Given the description of an element on the screen output the (x, y) to click on. 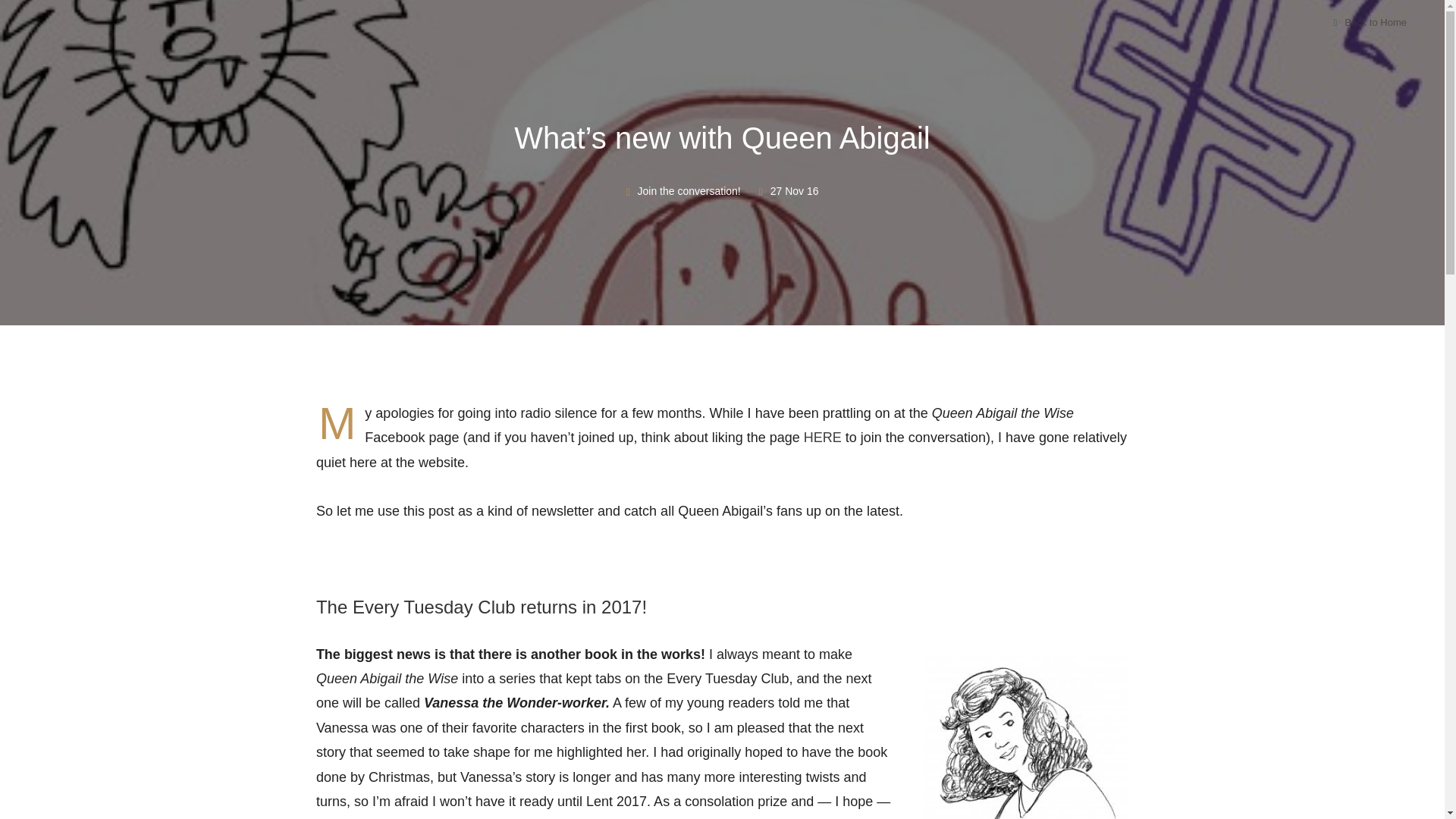
Back to Home (1369, 21)
27 Nov 16 (794, 191)
HERE (824, 437)
Join the conversation! (689, 191)
